Given the description of an element on the screen output the (x, y) to click on. 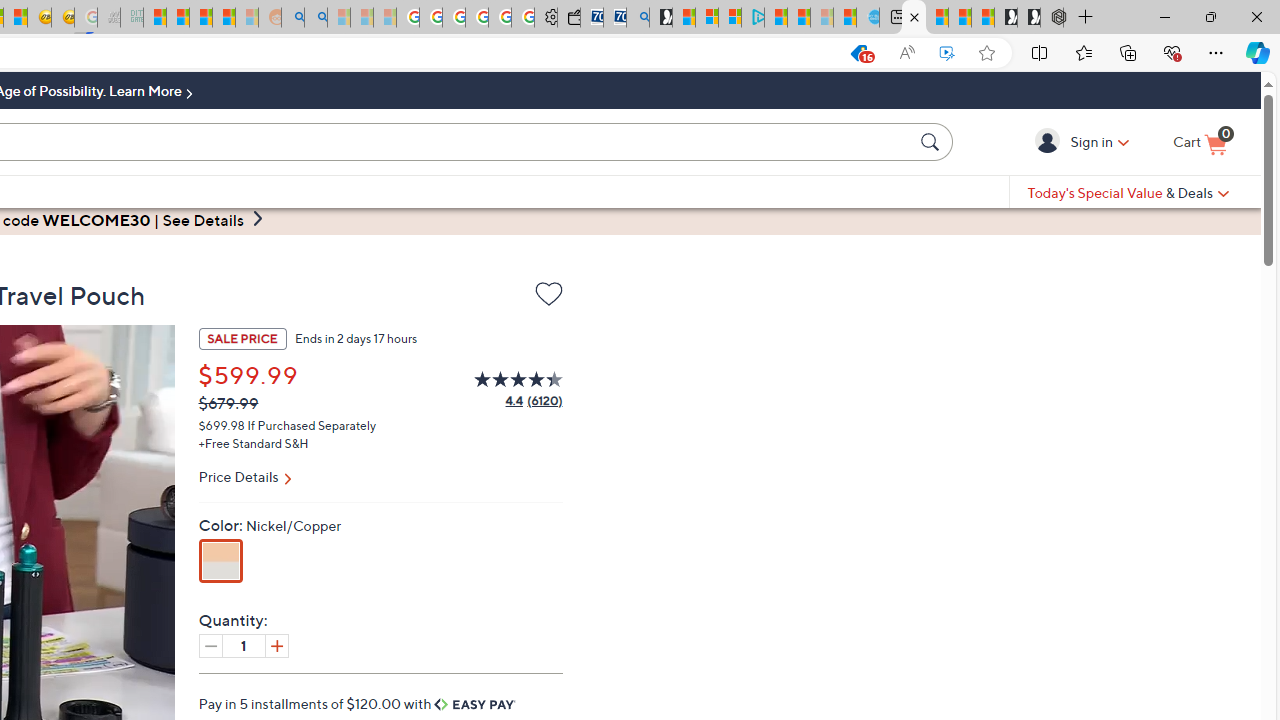
Pay in 5 installments of $120.00 with Easy Pay (357, 703)
Cheap Car Rentals - Save70.com (614, 17)
Today's Special Value & Deals (1128, 192)
Today's Special Value & Deals (1128, 192)
You have the best price! (858, 53)
SALE PRICE (242, 337)
